Given the description of an element on the screen output the (x, y) to click on. 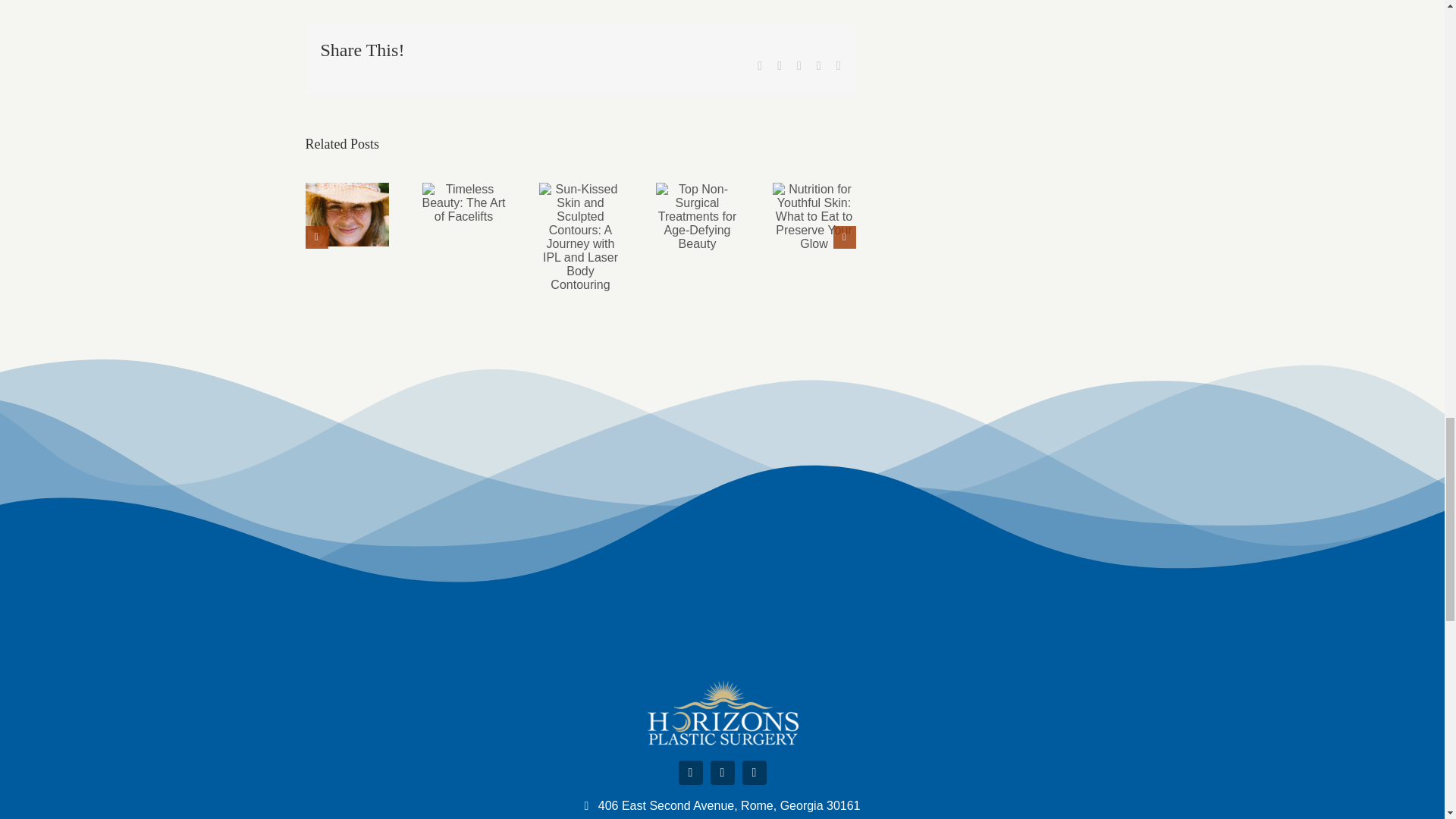
Facebook (689, 772)
